Given the description of an element on the screen output the (x, y) to click on. 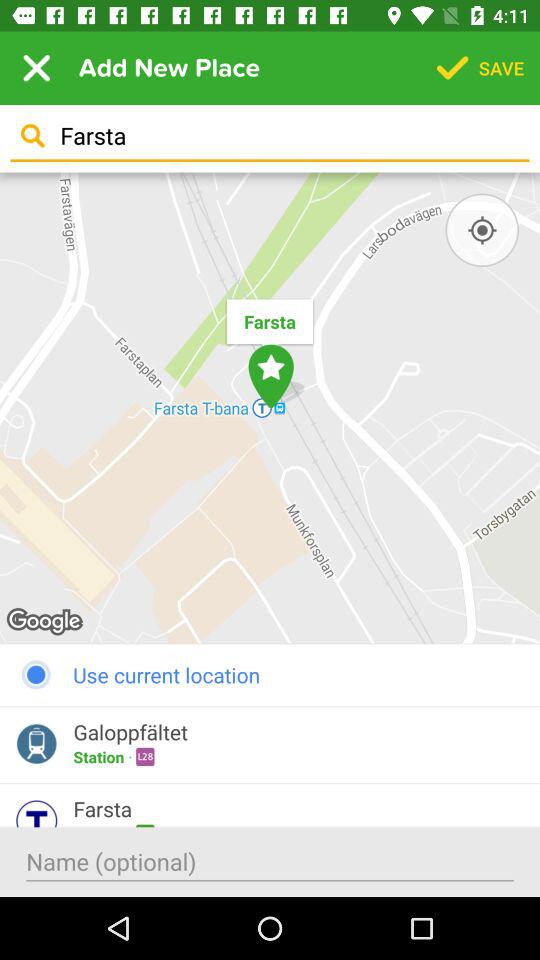
toggle track location (482, 230)
